Given the description of an element on the screen output the (x, y) to click on. 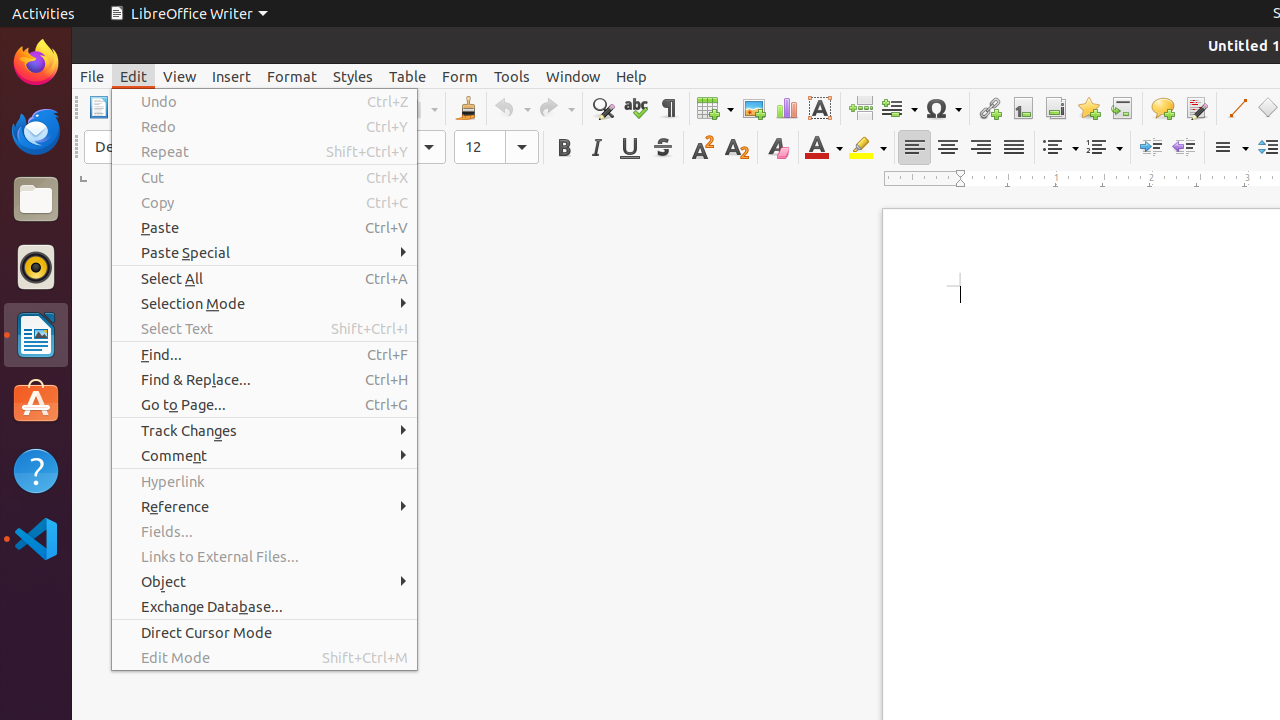
Hyperlink Element type: menu-item (264, 481)
Underline Element type: push-button (629, 147)
Select All Element type: menu-item (264, 278)
Endnote Element type: push-button (1055, 108)
Copy Element type: menu-item (264, 202)
